Given the description of an element on the screen output the (x, y) to click on. 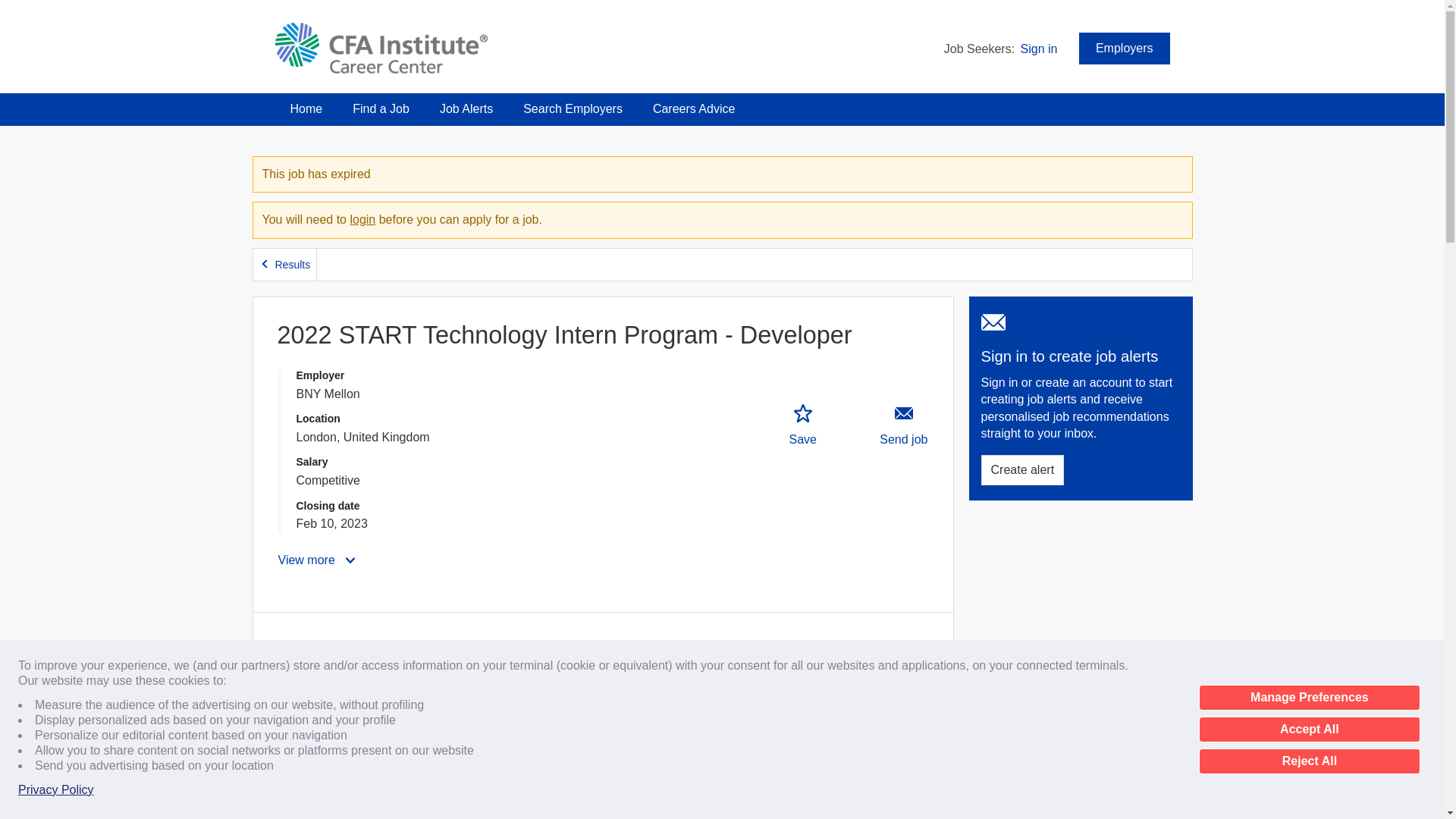
login (362, 219)
Job Alerts (466, 109)
Privacy Policy (55, 789)
Accept All (1309, 729)
Create alert (1022, 470)
Reject All (1309, 760)
Home (306, 109)
View more (318, 560)
CFA Institute Career Center (380, 47)
Find a Job (381, 109)
Sign in (1038, 48)
Careers Advice (694, 109)
Search Employers (572, 109)
Manage Preferences (1309, 697)
Results (285, 264)
